Given the description of an element on the screen output the (x, y) to click on. 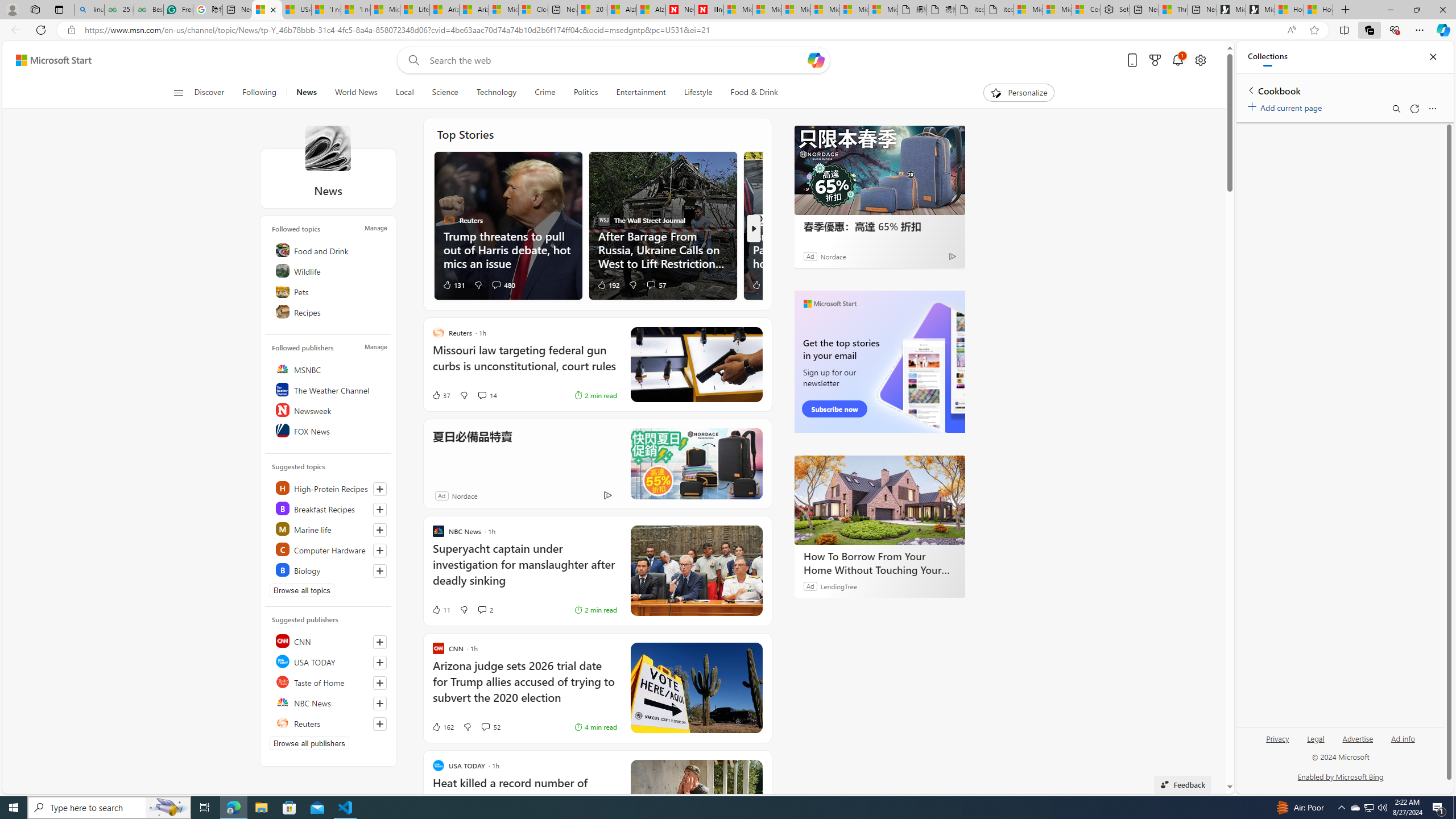
Illness news & latest pictures from Newsweek.com (709, 9)
11 Like (440, 609)
Browse all publishers (309, 743)
View comments 57 Comment (650, 284)
FOX News (328, 430)
